Given the description of an element on the screen output the (x, y) to click on. 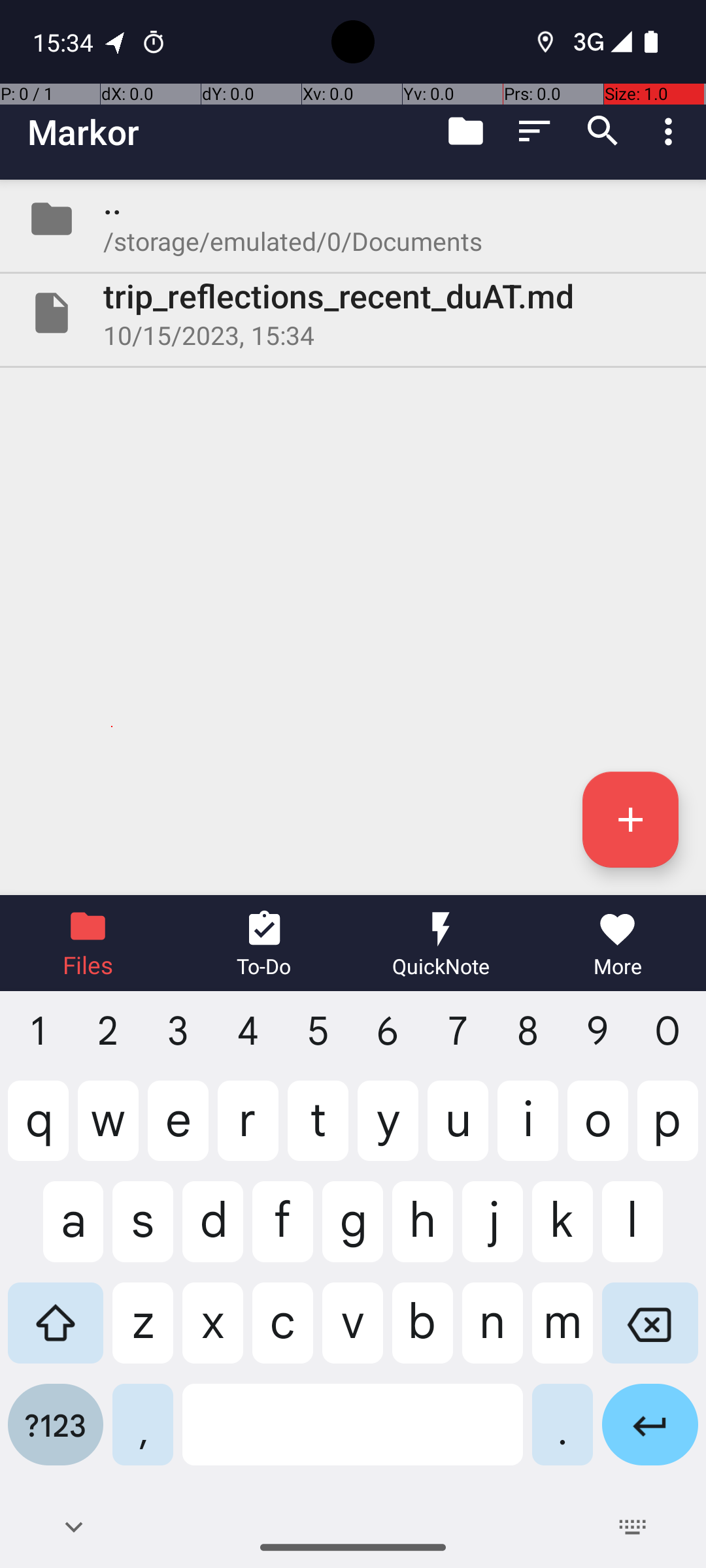
File trip_reflections_recent_duAT.md  Element type: android.widget.LinearLayout (353, 312)
